Given the description of an element on the screen output the (x, y) to click on. 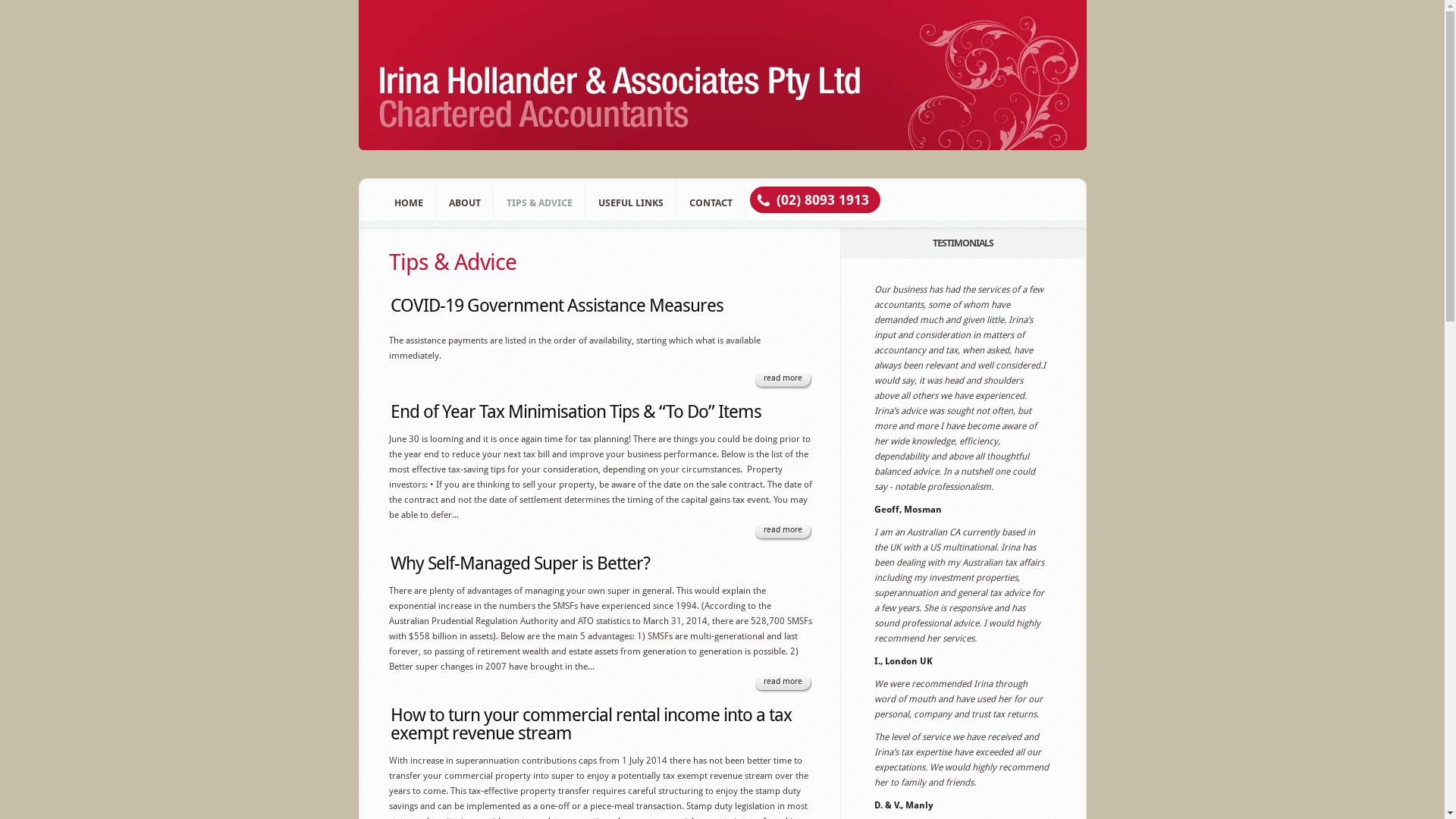
Why Self-Managed Super is Better? Element type: text (519, 563)
HOME Element type: text (408, 202)
TIPS & ADVICE Element type: text (539, 202)
USEFUL LINKS Element type: text (629, 202)
COVID-19 Government Assistance Measures Element type: text (555, 305)
CONTACT Element type: text (709, 202)
read more Element type: text (775, 682)
ABOUT Element type: text (464, 202)
(02) 8093 1913 Element type: text (822, 199)
read more Element type: text (775, 379)
read more Element type: text (775, 530)
